Given the description of an element on the screen output the (x, y) to click on. 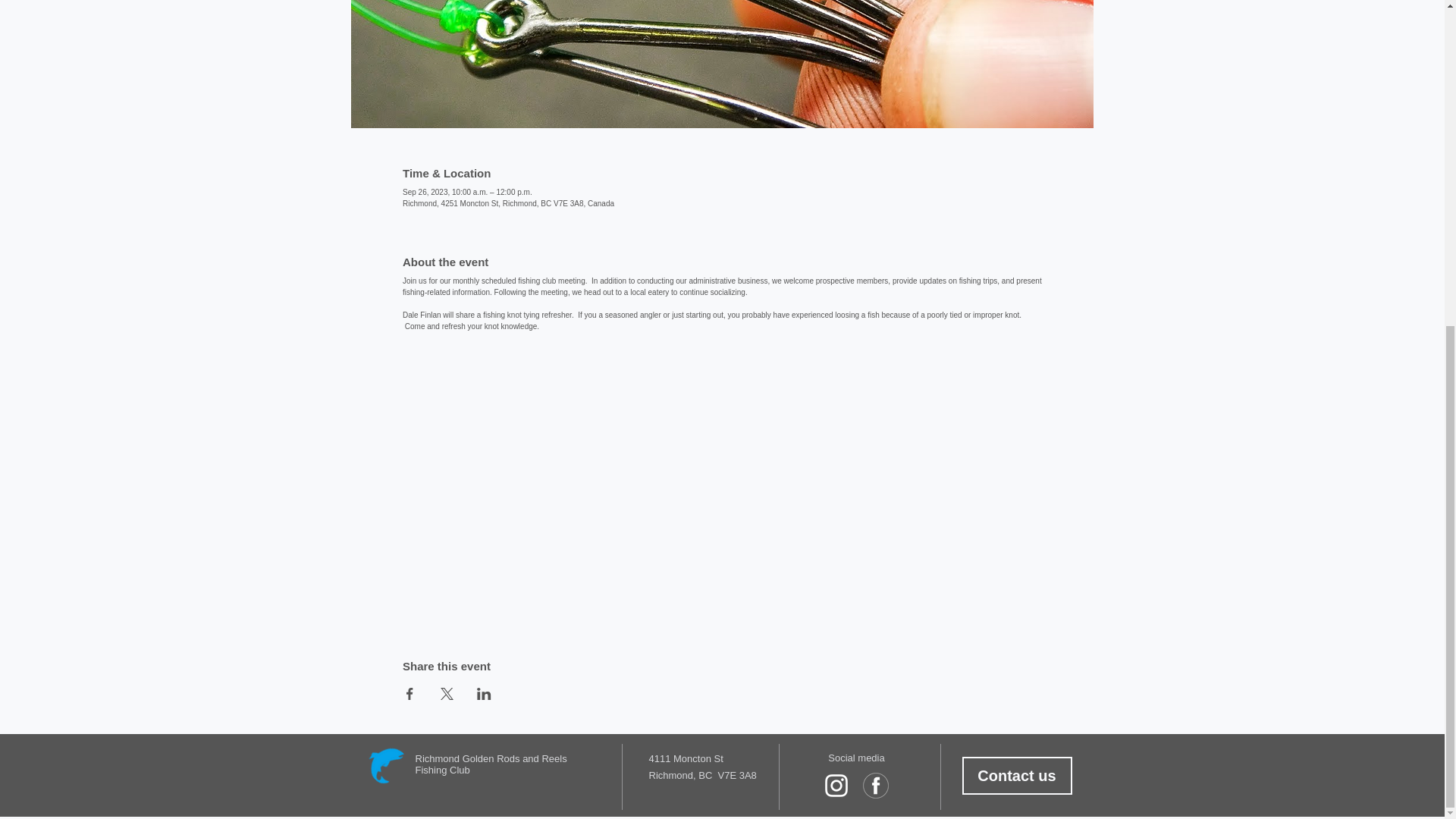
Contact us (1015, 775)
